Given the description of an element on the screen output the (x, y) to click on. 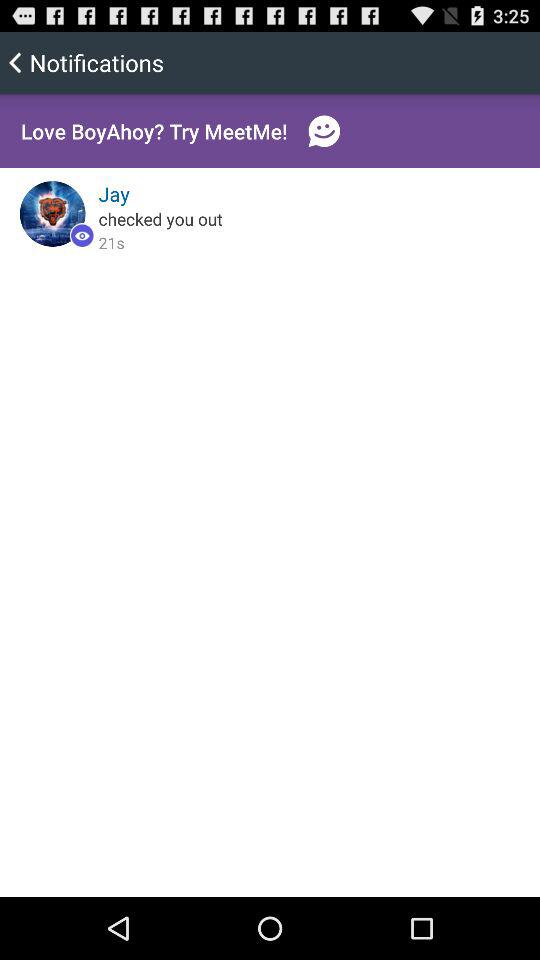
swipe to jay (113, 193)
